Given the description of an element on the screen output the (x, y) to click on. 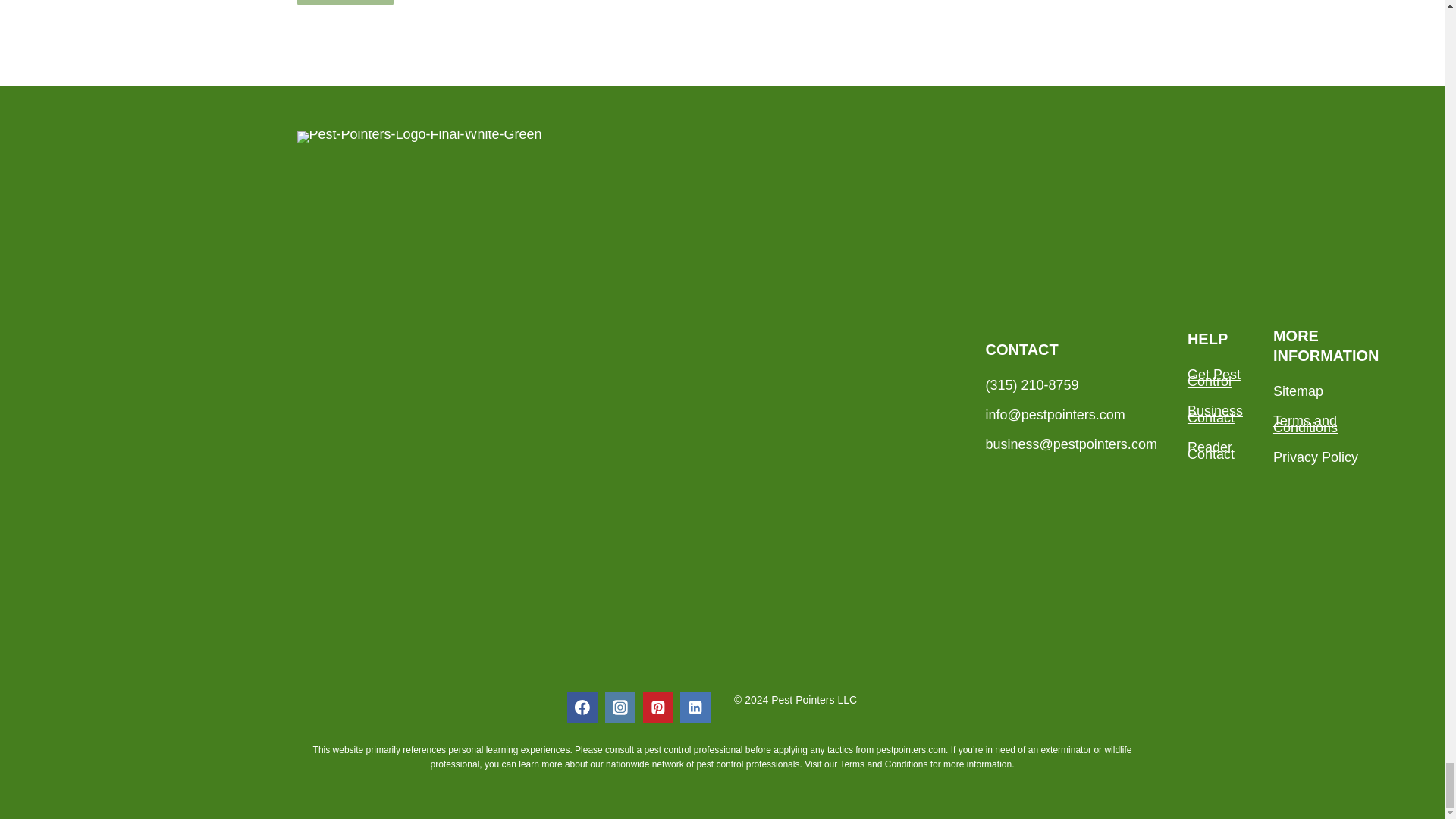
Post Comment (345, 2)
